Given the description of an element on the screen output the (x, y) to click on. 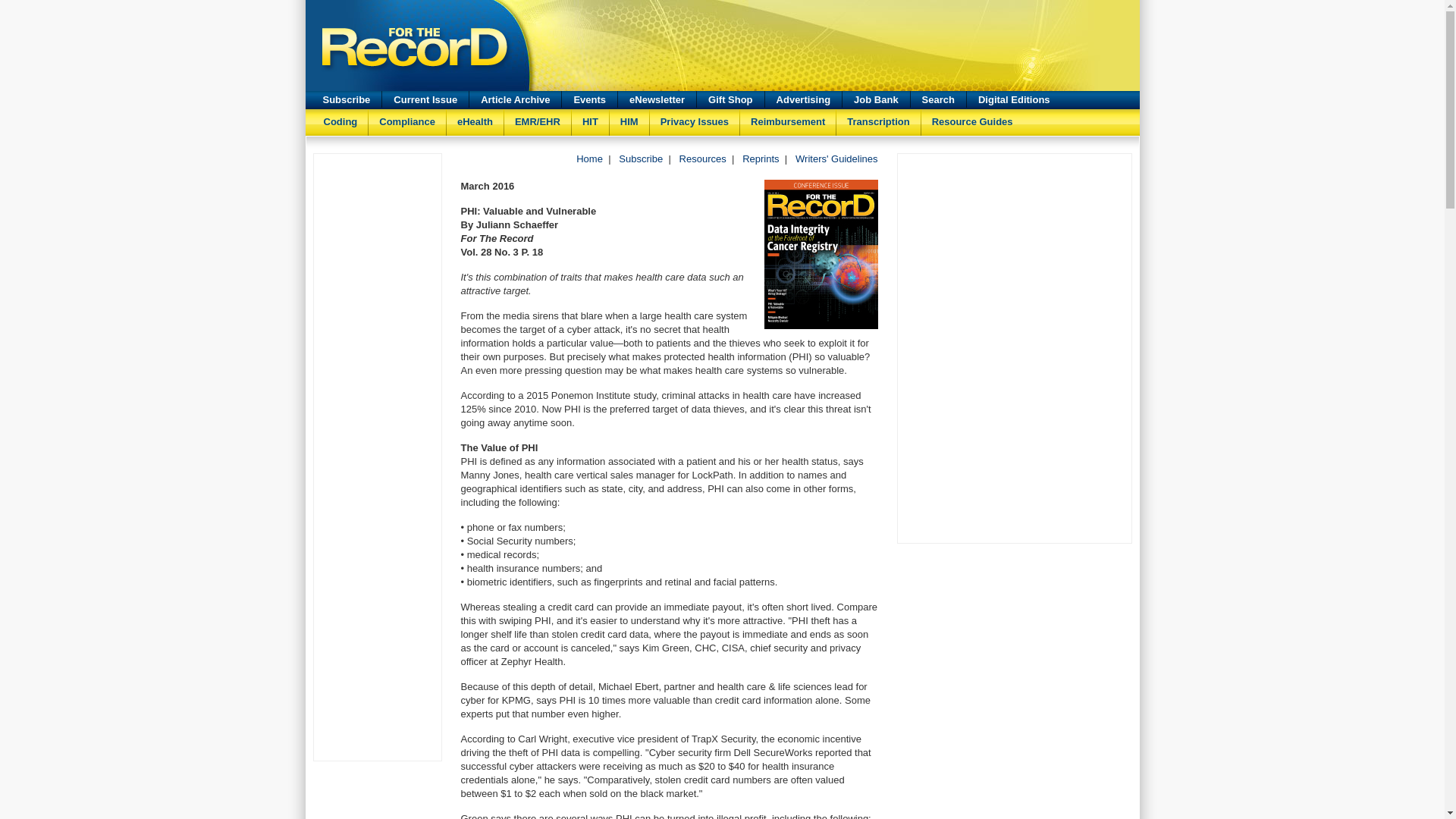
Search (938, 99)
eNewsletter (656, 99)
Article Archive (514, 99)
Writers' Guidelines (835, 158)
Resources (702, 158)
3rd party ad content (833, 45)
Reprints (760, 158)
Home (589, 158)
3rd party ad content (377, 225)
Home (589, 158)
